Given the description of an element on the screen output the (x, y) to click on. 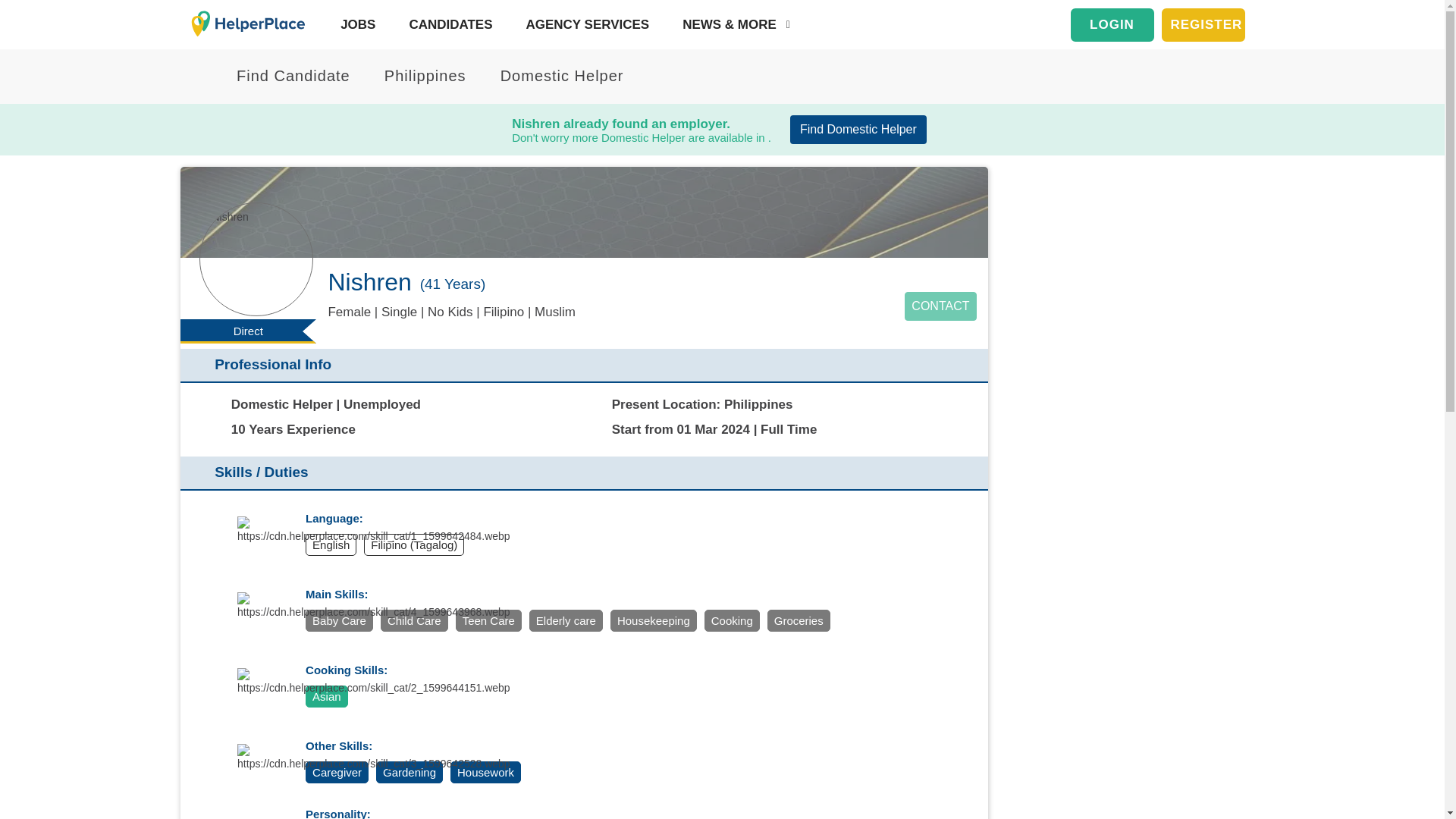
Domestic Helper (552, 75)
Find Domestic Helper (858, 129)
AGENCY SERVICES (583, 24)
LOGIN (1112, 23)
CONTACT (939, 306)
Contact Candidate (939, 306)
Find Candidate (286, 75)
REGISTER (1202, 23)
CANDIDATES (446, 24)
JOBS (354, 24)
Philippines (418, 75)
